Given the description of an element on the screen output the (x, y) to click on. 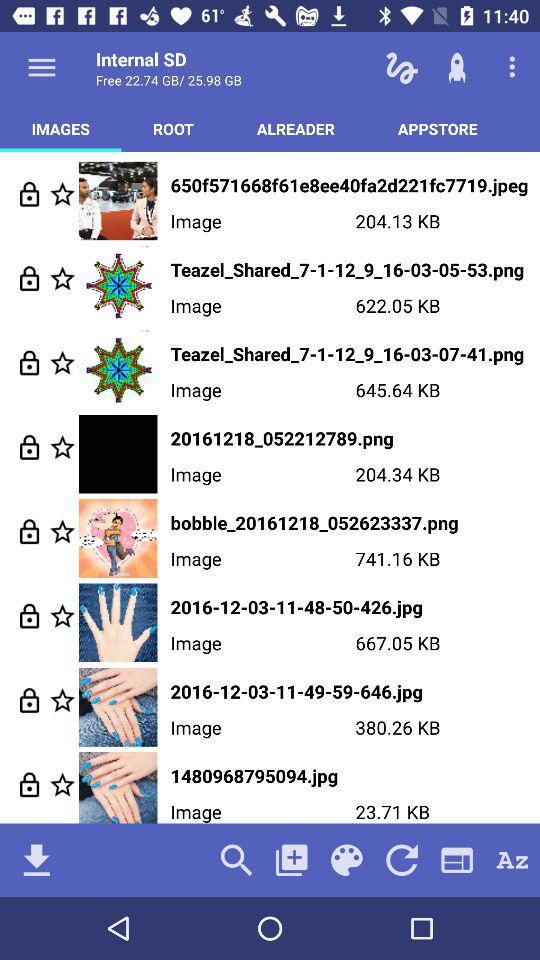
lock an image (29, 446)
